Given the description of an element on the screen output the (x, y) to click on. 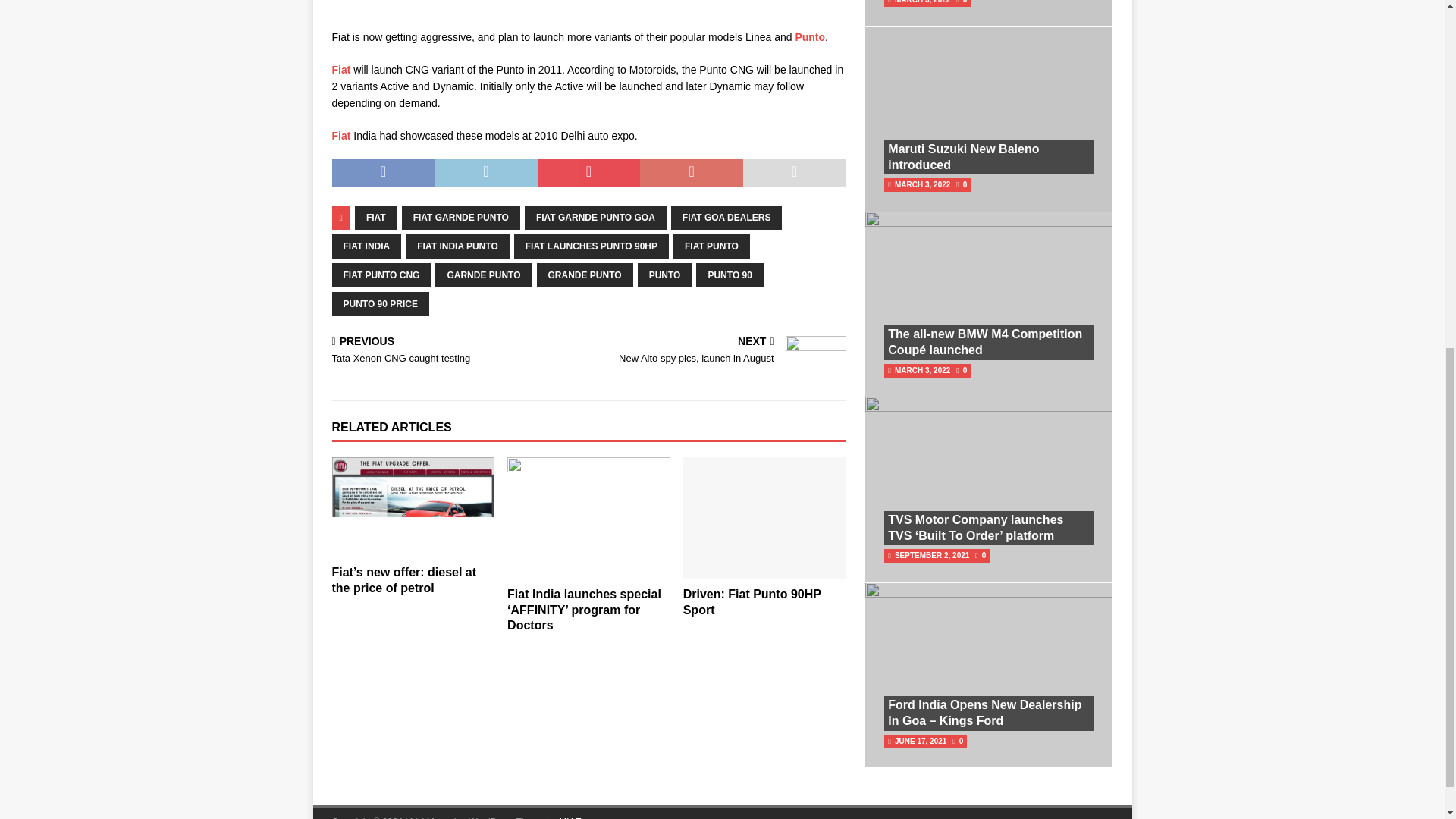
Fiat (340, 69)
Punto (809, 37)
Fiat (340, 135)
